Given the description of an element on the screen output the (x, y) to click on. 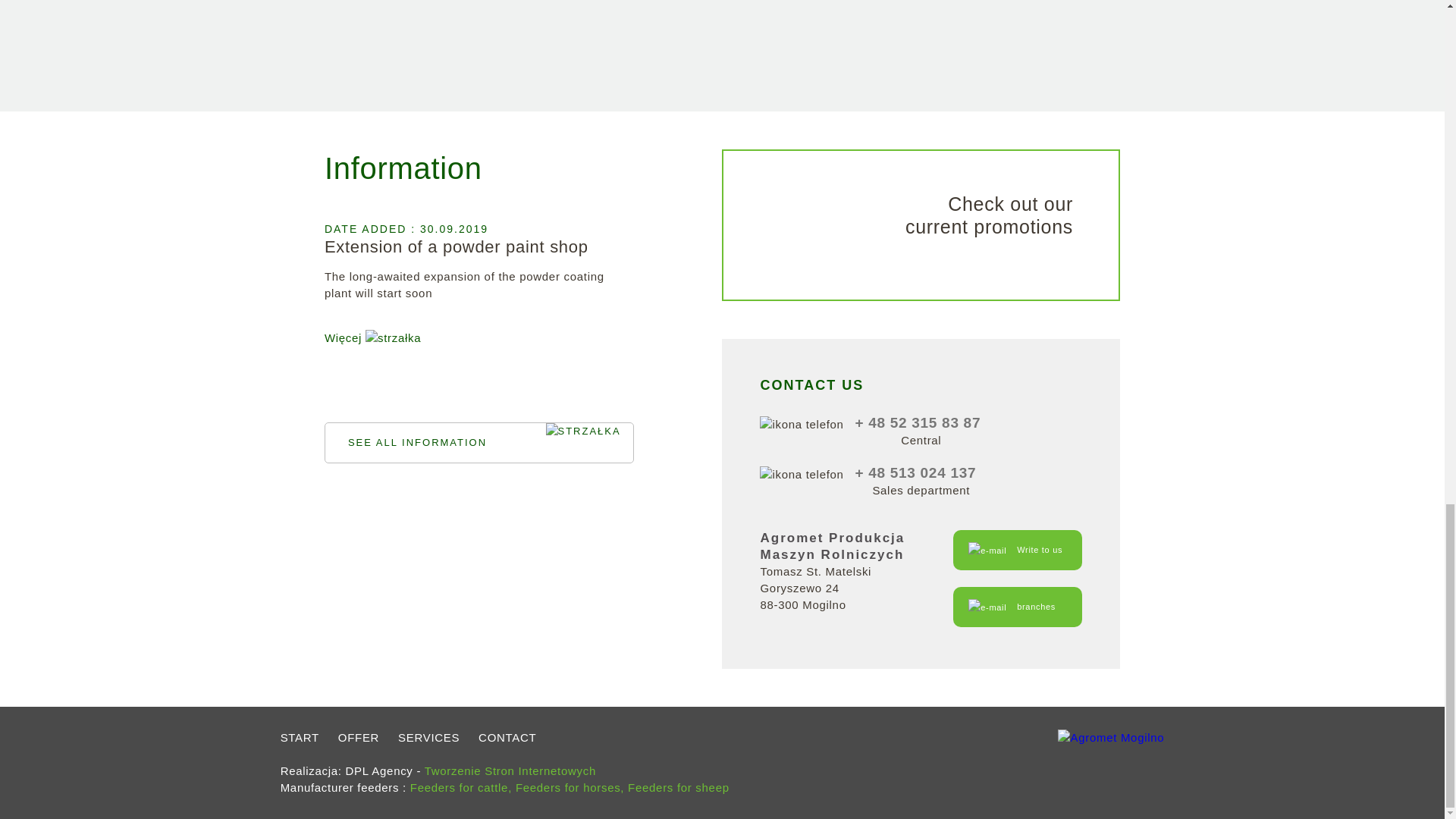
branches (1017, 607)
SEE ALL INFORMATION (920, 225)
Extension of a powder paint shop (478, 442)
Write to us (456, 246)
